Given the description of an element on the screen output the (x, y) to click on. 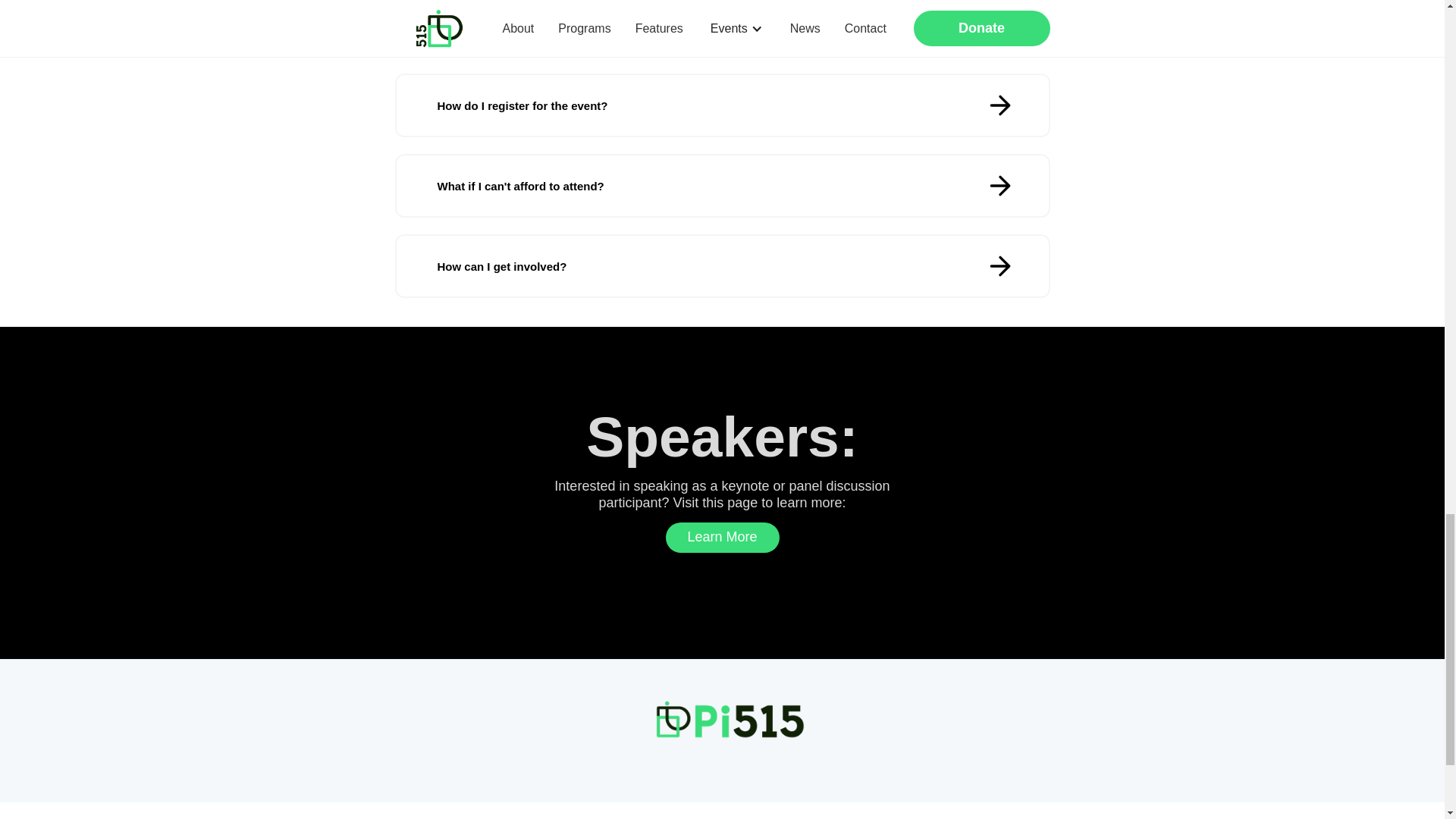
Learn More (721, 537)
